Given the description of an element on the screen output the (x, y) to click on. 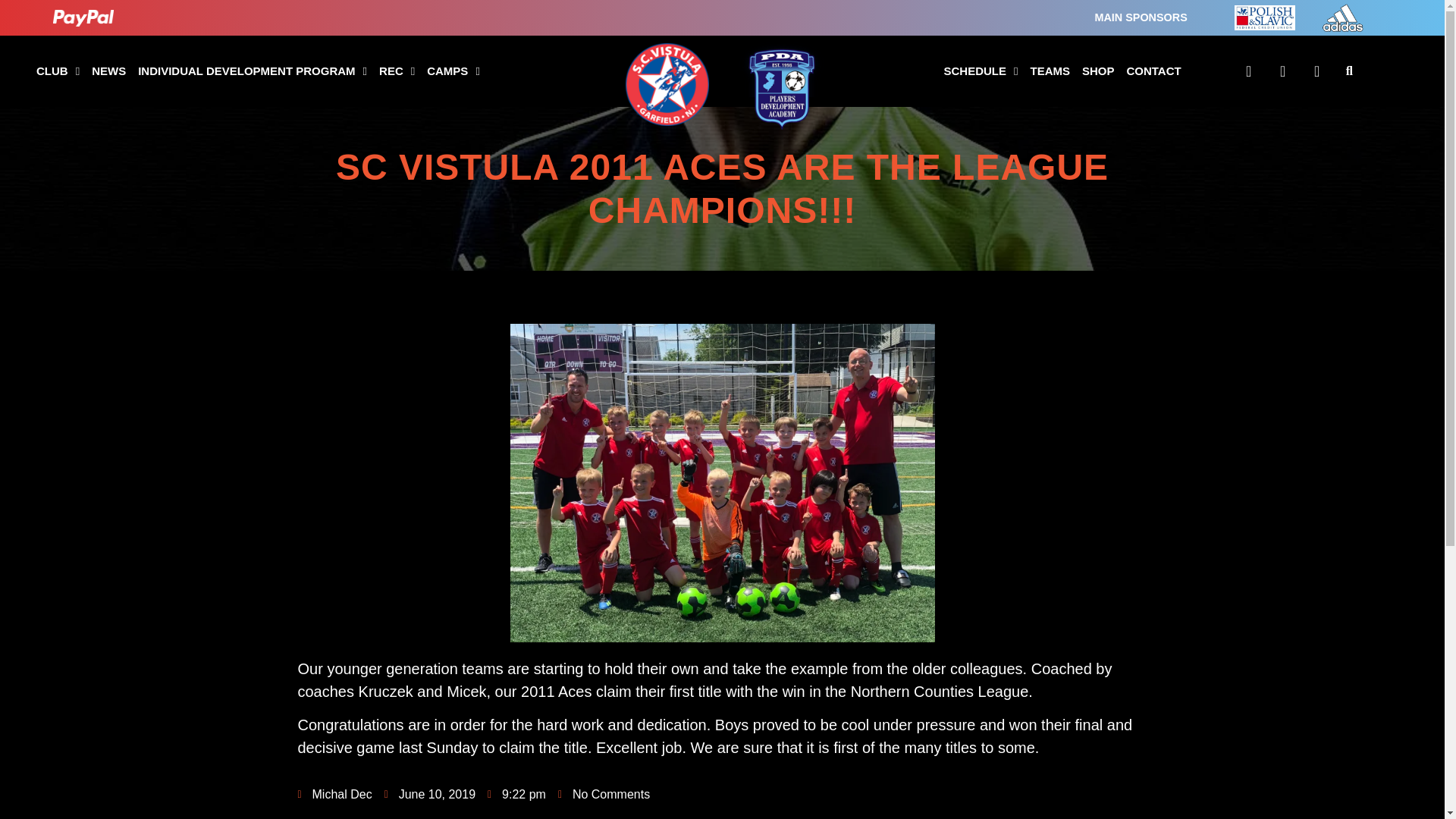
CLUB (57, 71)
CAMPS (453, 71)
NEWS (108, 71)
INDIVIDUAL DEVELOPMENT PROGRAM (252, 71)
REC (396, 71)
